Given the description of an element on the screen output the (x, y) to click on. 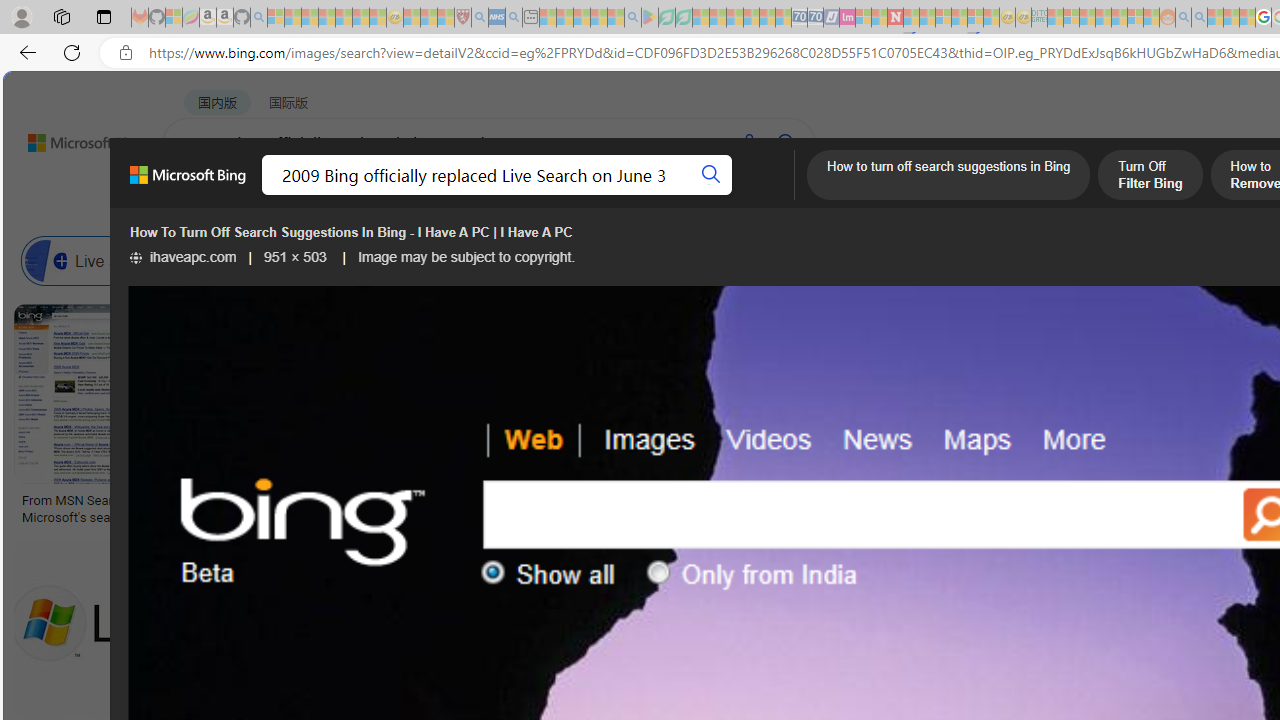
DICT (717, 195)
Turn Off Filter Bing (1150, 177)
MORE (793, 195)
MY BING (276, 195)
Microsoft Live LogoSave (740, 417)
